Given the description of an element on the screen output the (x, y) to click on. 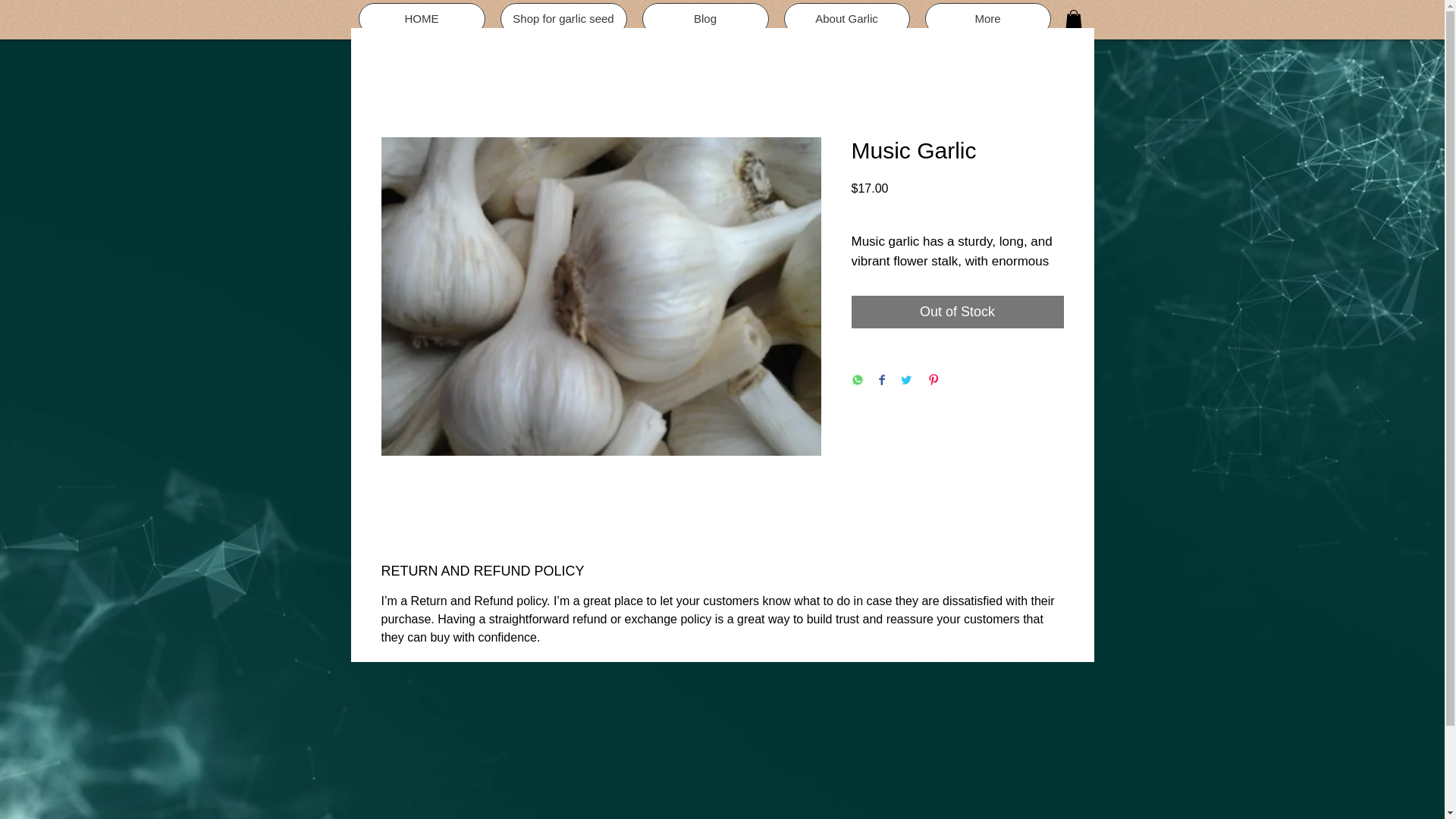
Blog (705, 19)
About Garlic (847, 19)
HOME (421, 19)
Out of Stock (956, 311)
Shop for garlic seed (563, 19)
